Given the description of an element on the screen output the (x, y) to click on. 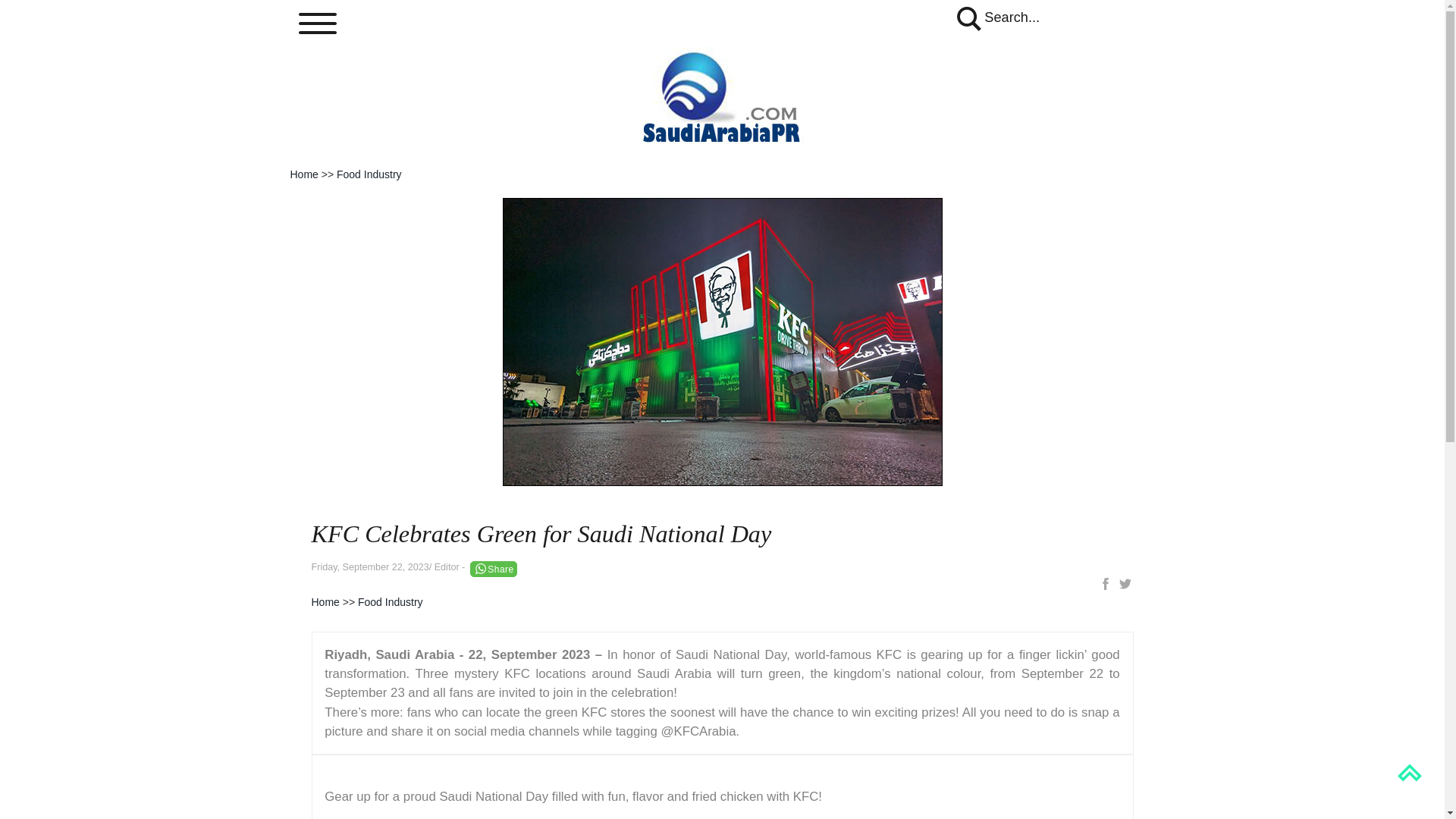
Home (303, 174)
Food Industry (368, 174)
Search... (997, 17)
Home (325, 602)
Share (493, 569)
Food Industry (390, 602)
